Given the description of an element on the screen output the (x, y) to click on. 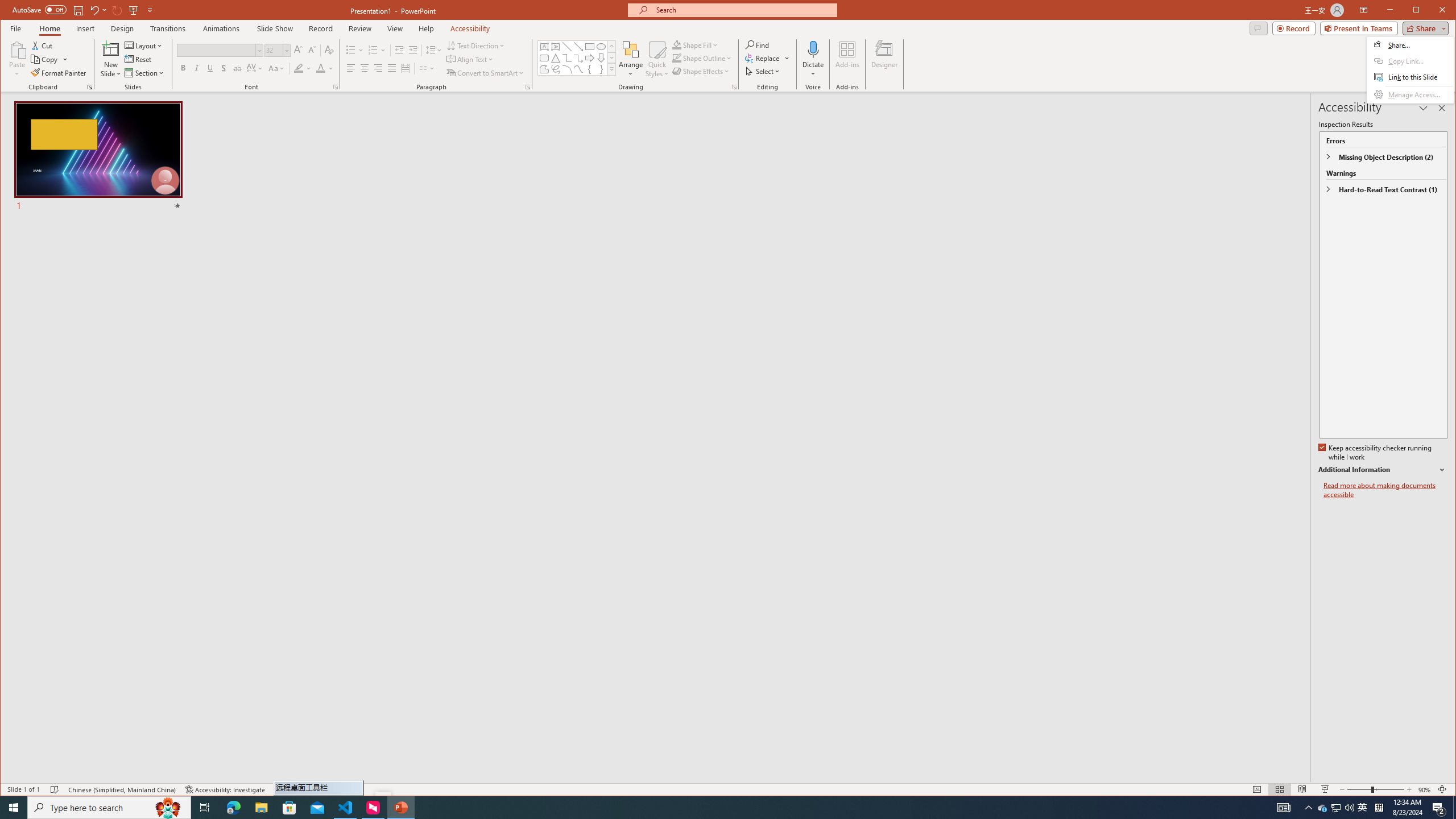
User Promoted Notification Area (1336, 807)
Shapes (611, 69)
Decrease Font Size (311, 49)
Arrow: Down (601, 57)
Bold (182, 68)
Align Right (377, 68)
Action Center, 2 new notifications (1439, 807)
Shape Outline Blue, Accent 1 (676, 57)
Character Spacing (254, 68)
Rectangle (589, 46)
Font... (335, 86)
